Given the description of an element on the screen output the (x, y) to click on. 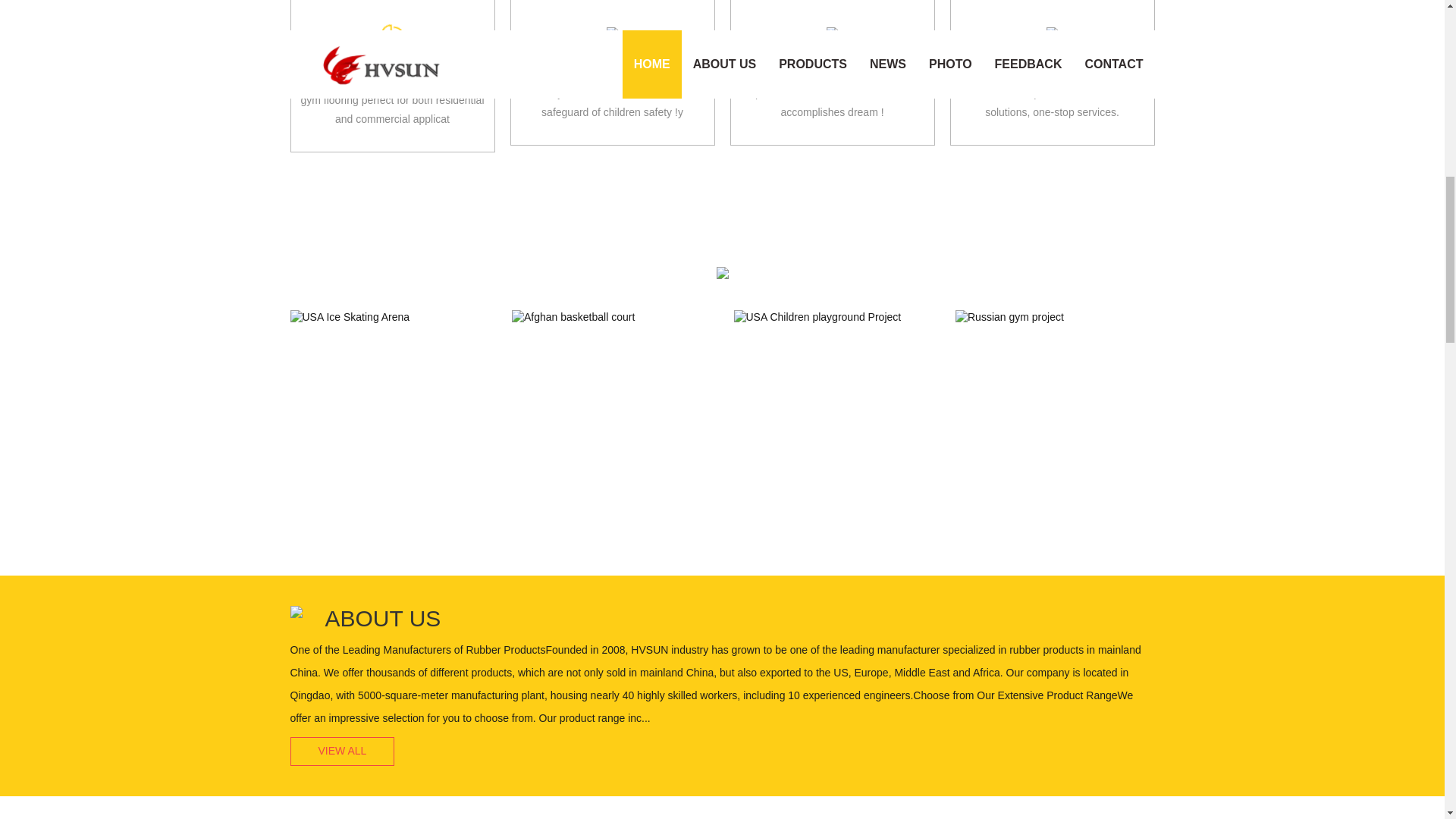
USA Children playground Project (833, 350)
USA Ice Skating Arena (389, 317)
Afghan basketball court (611, 350)
USA Children playground Project (833, 317)
USA Ice Skating Arena (390, 350)
Russian gym project (1054, 317)
USA Ice Skating Arena (390, 350)
Russian gym project (1055, 350)
Afghan basketball court (611, 317)
